Given the description of an element on the screen output the (x, y) to click on. 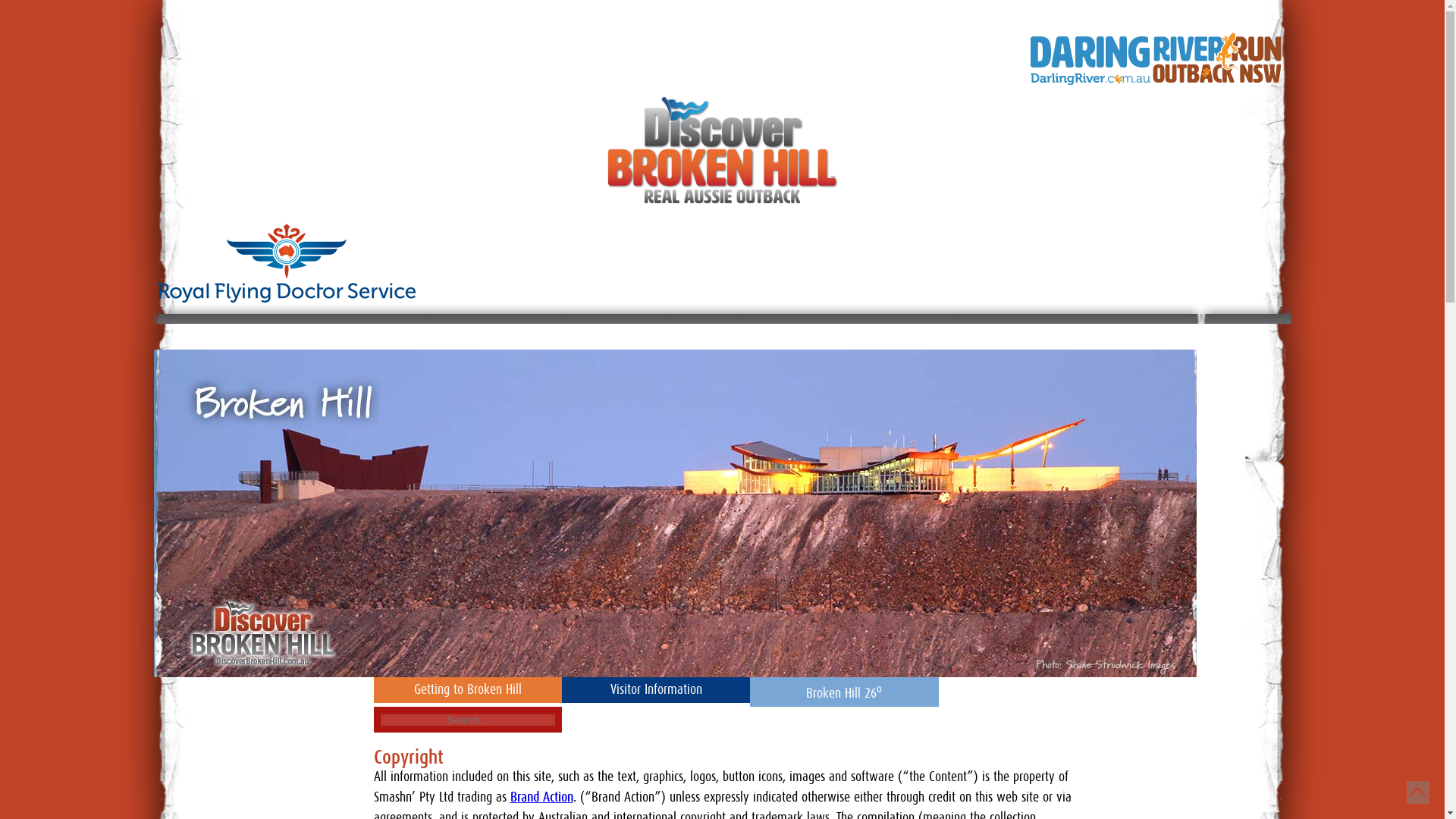
Silverton Element type: text (346, 331)
Outback Region Towns Element type: text (1048, 331)
Broken Hill Local Drive Element type: text (573, 331)
Discover Broken Hill Element type: text (229, 331)
Visitor Information Element type: text (655, 689)
Broken Hill History Element type: text (893, 331)
Home Element type: text (1164, 331)
Getting to Broken Hill Element type: text (467, 689)
Broken Hill Town Map Element type: text (740, 331)
Brand Action Element type: text (540, 797)
Things to do Element type: text (437, 331)
